Given the description of an element on the screen output the (x, y) to click on. 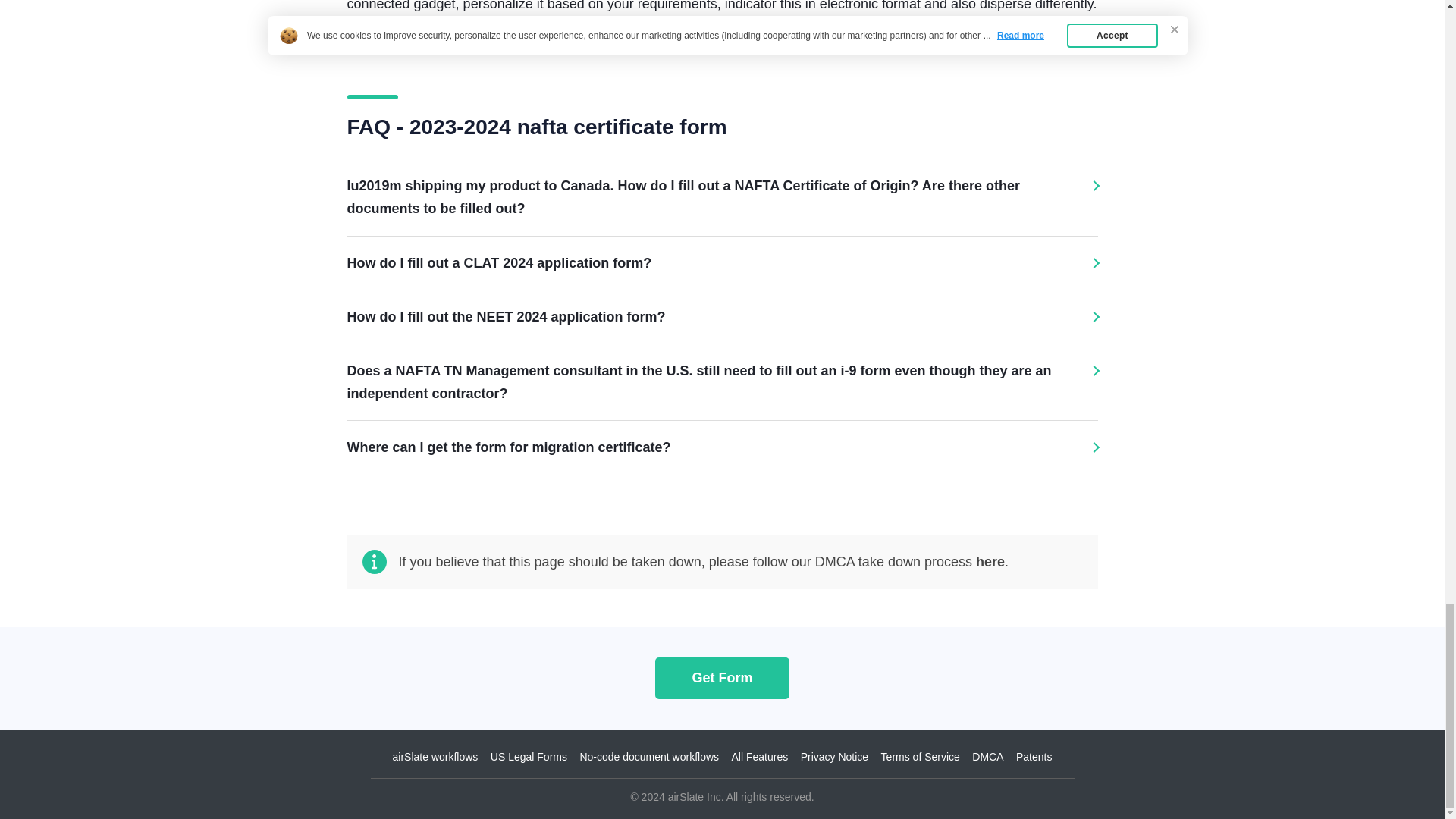
US Legal Forms (528, 756)
Terms of Service (919, 756)
Get Form (722, 677)
airSlate workflows (436, 756)
Privacy Notice (833, 756)
here (989, 561)
No-code document workflows (649, 756)
Patents (1033, 756)
DMCA (987, 756)
All Features (760, 756)
